Given the description of an element on the screen output the (x, y) to click on. 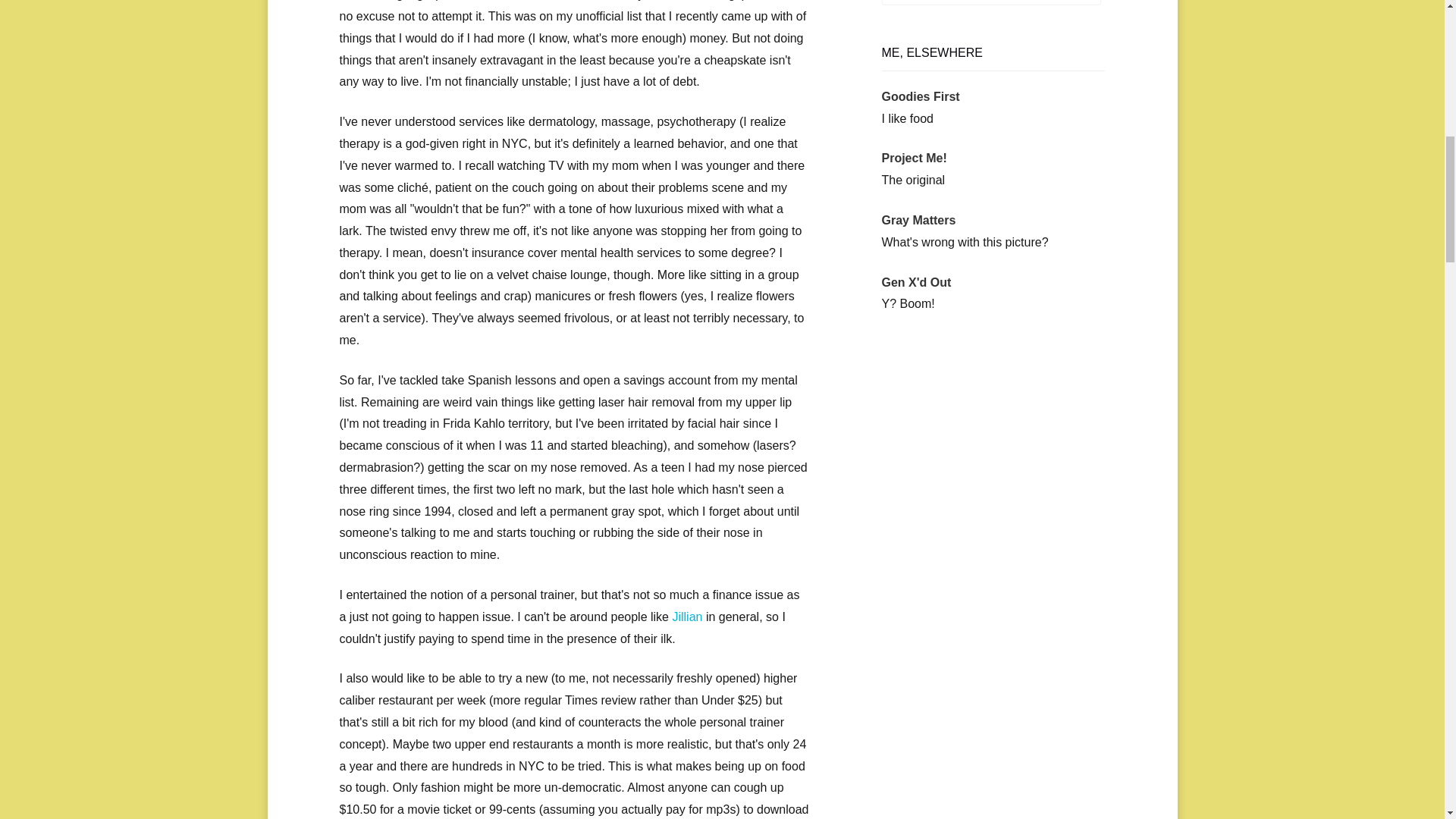
Jillian (686, 616)
